Given the description of an element on the screen output the (x, y) to click on. 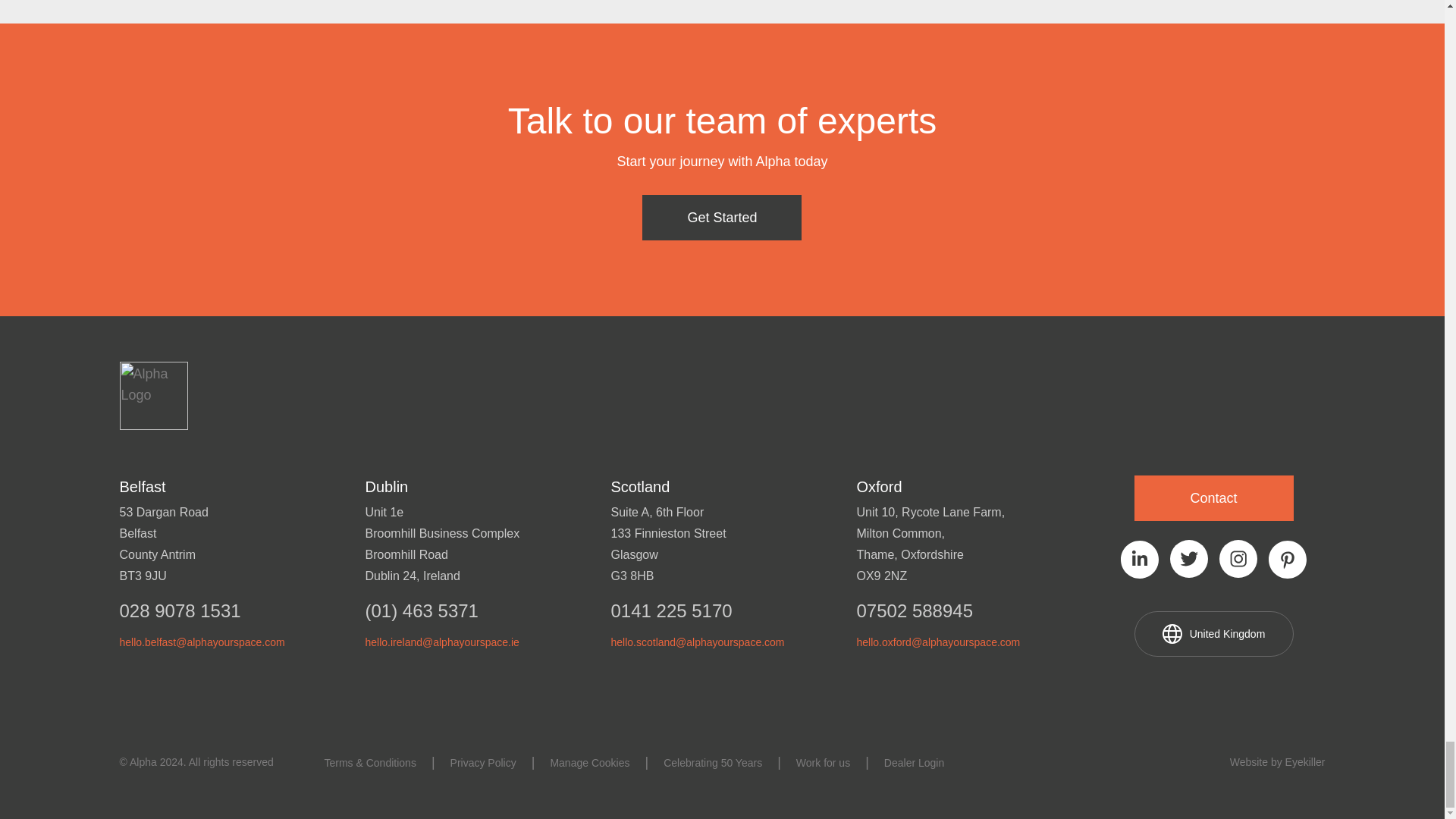
07502 588945 (968, 609)
0141 225 5170 (722, 609)
028 9078 1531 (230, 609)
Get Started (722, 217)
